Given the description of an element on the screen output the (x, y) to click on. 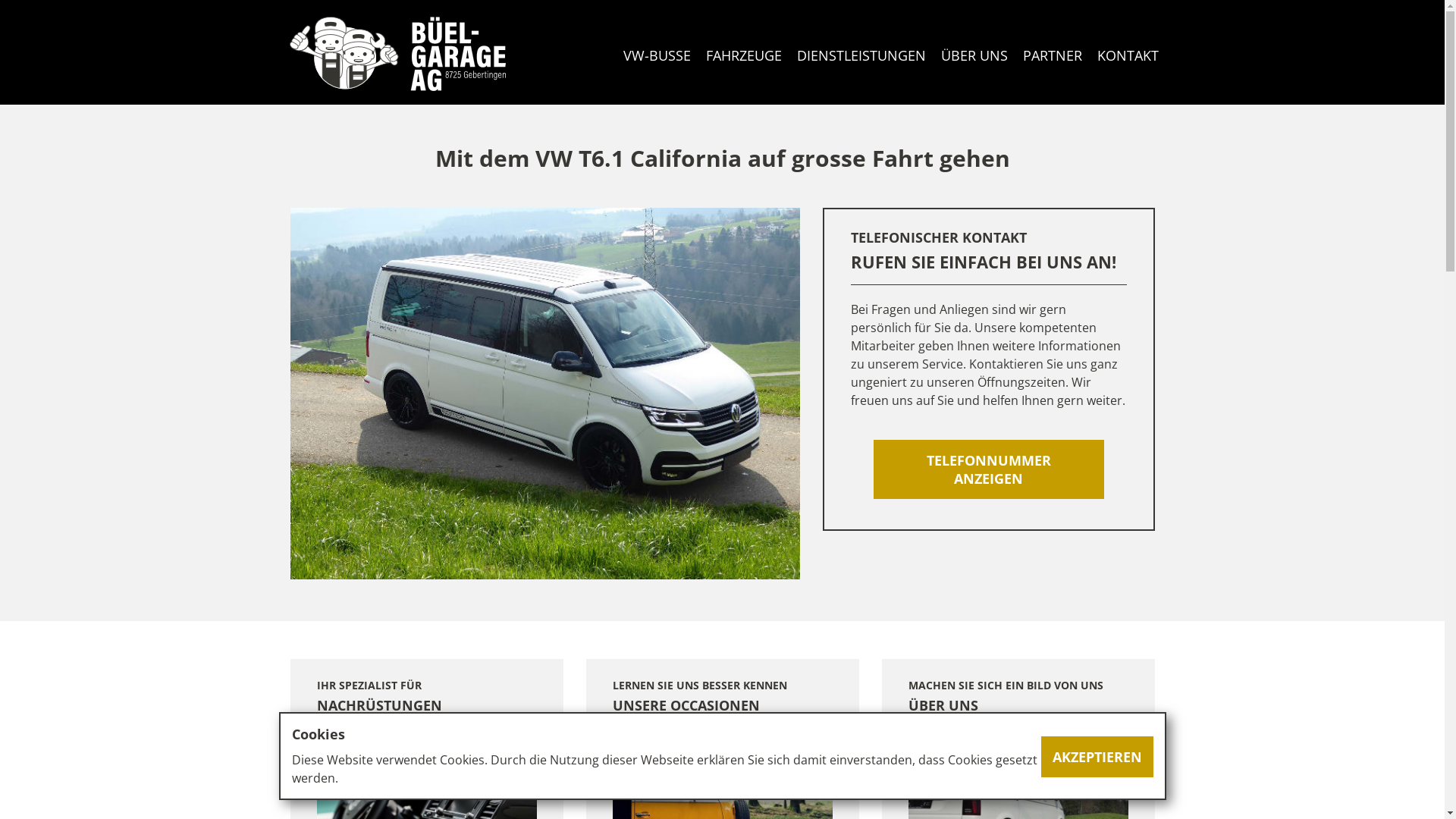
VW-BUSSE Element type: text (656, 55)
KONTAKT Element type: text (1126, 55)
DIENSTLEISTUNGEN Element type: text (860, 55)
PARTNER Element type: text (1051, 55)
AKZEPTIEREN Element type: text (1096, 756)
TELEFONNUMMER ANZEIGEN Element type: text (988, 469)
FAHRZEUGE Element type: text (743, 55)
TELEFONNUMMER ANZEIGEN Element type: text (988, 468)
